Given the description of an element on the screen output the (x, y) to click on. 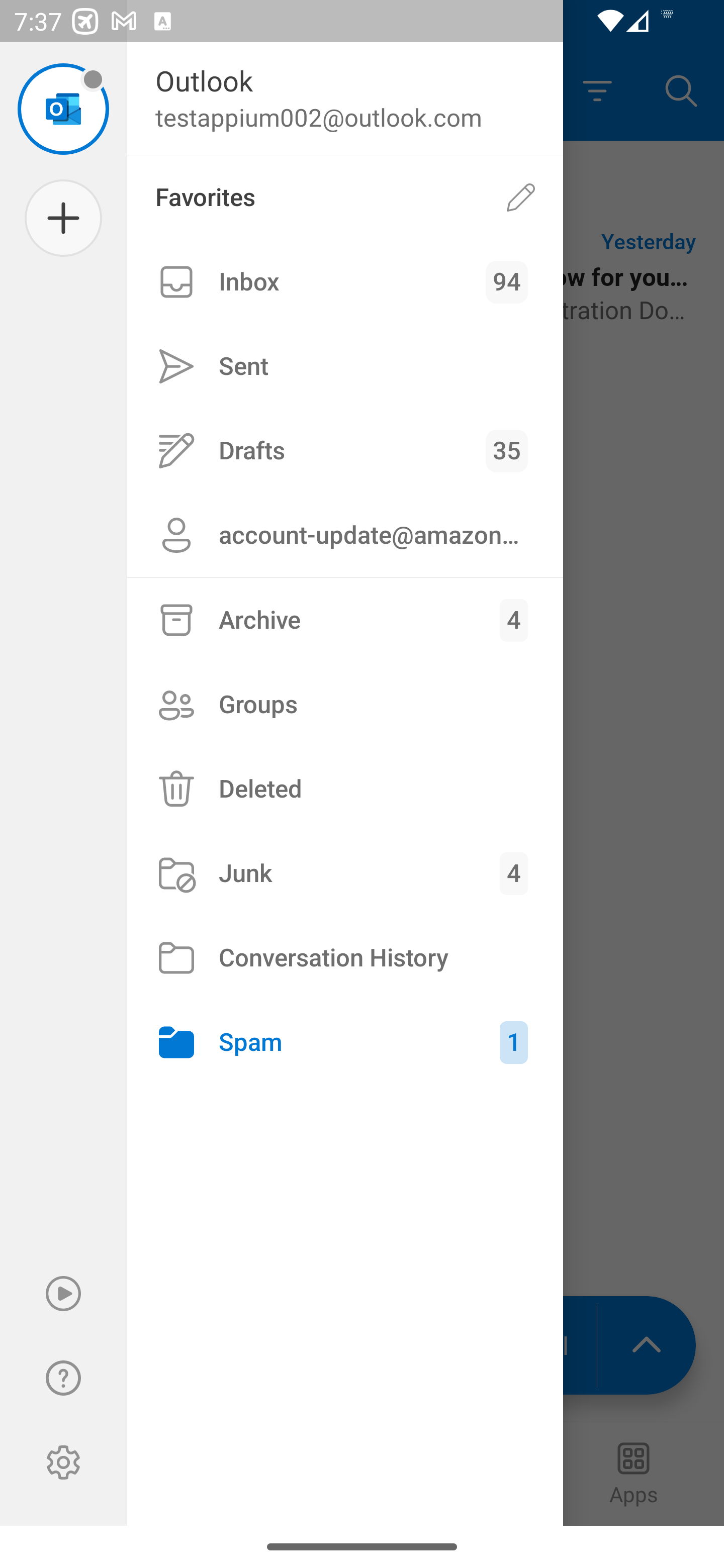
Edit favorites (520, 197)
Add account (63, 217)
Inbox Inbox, 94 unread emails (345, 281)
Sent (345, 366)
Drafts Drafts, 35 unread emails (345, 450)
account-update@amazon.com (345, 534)
Archive Archive, 2 of 7, level 1, 4 unread emails (345, 619)
Groups Groups, 3 of 7, level 1 (345, 703)
Deleted Deleted, 4 of 7, level 1 (345, 788)
Junk Junk, 5 of 7, level 1, 4 unread emails (345, 873)
Play My Emails (62, 1293)
Help (62, 1377)
Settings (62, 1462)
